Given the description of an element on the screen output the (x, y) to click on. 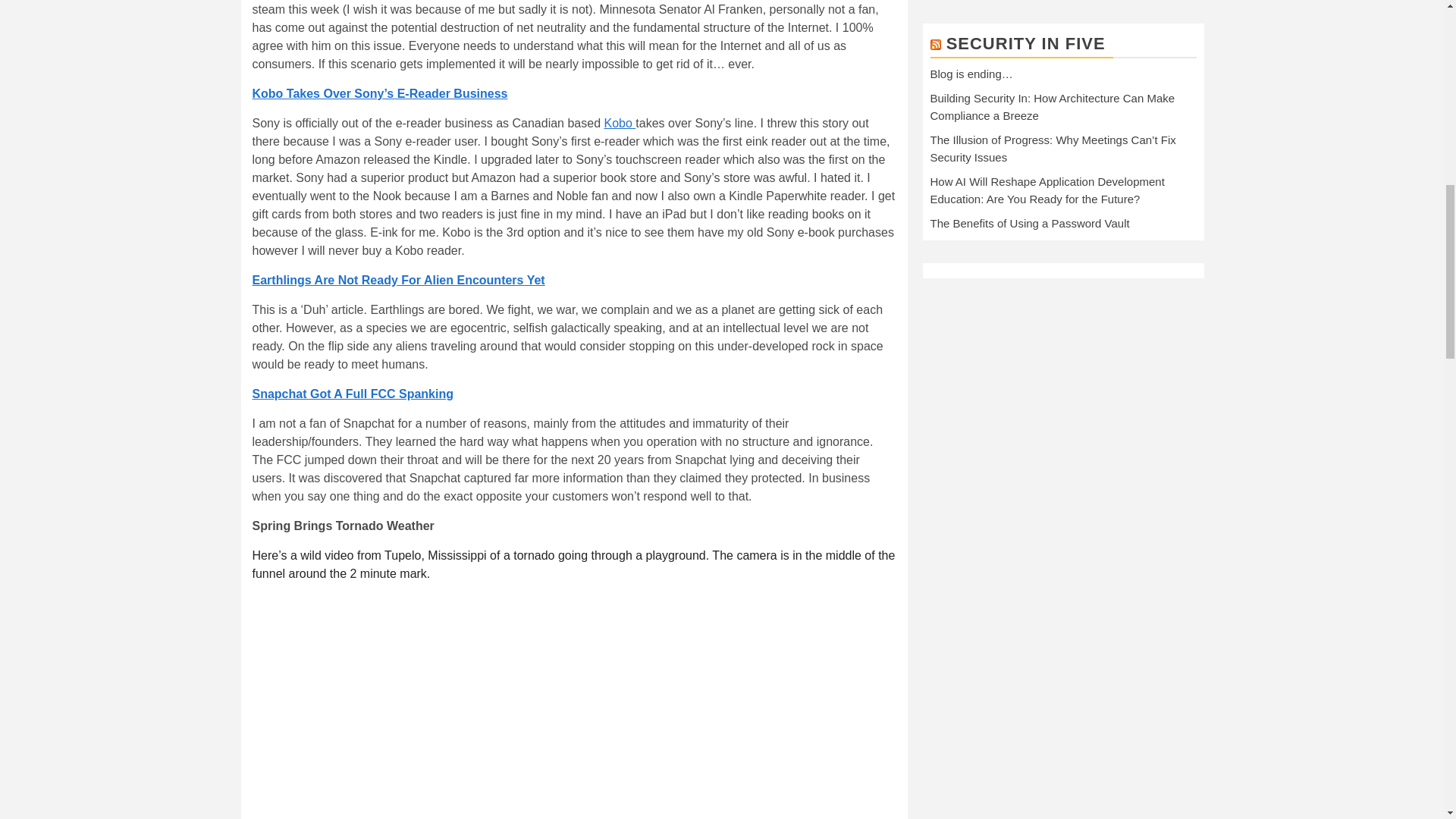
Snapchat (351, 393)
Snapchat Got A Full FCC Spanking (351, 393)
Kobo (619, 123)
Kobo (619, 123)
Kobo (378, 92)
Earthlings Are Not Ready For Alien Encounters Yet (397, 279)
